Given the description of an element on the screen output the (x, y) to click on. 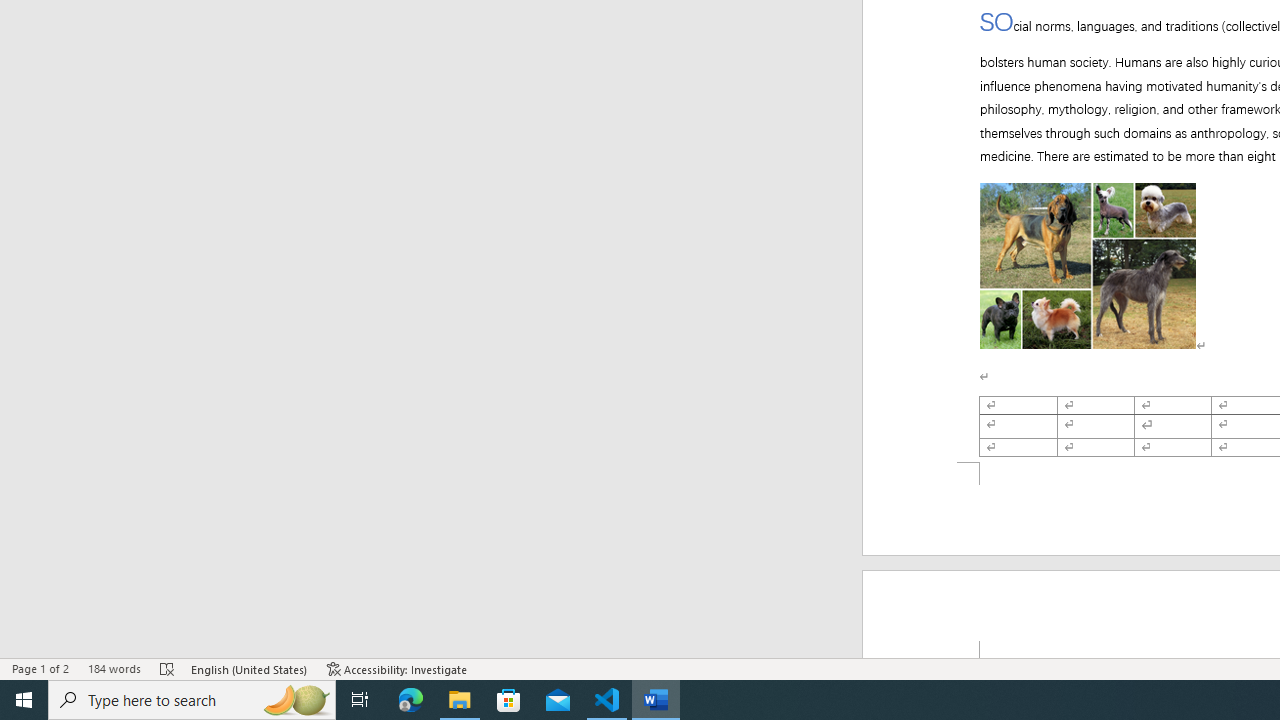
Start (24, 699)
